Given the description of an element on the screen output the (x, y) to click on. 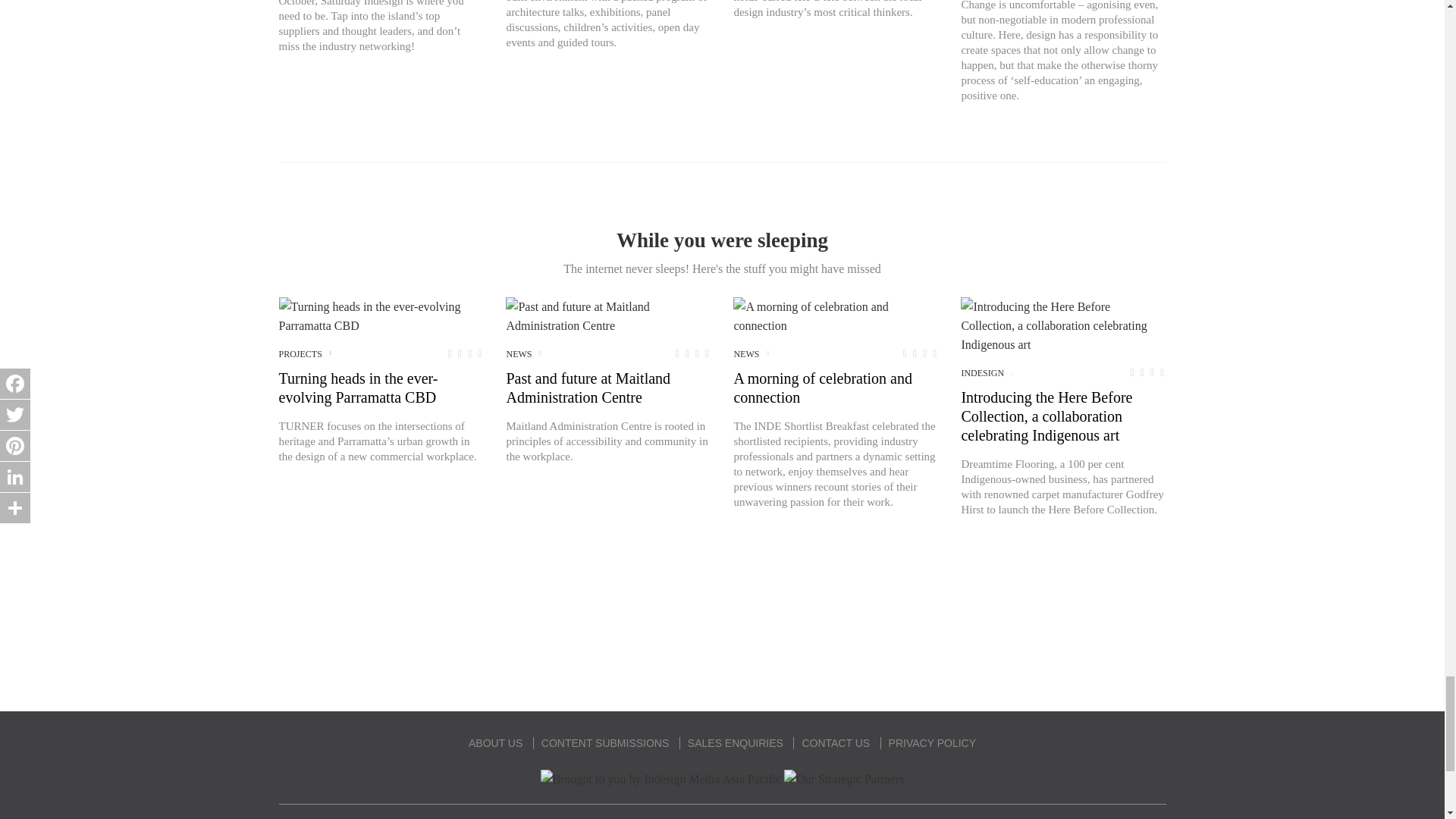
Turning heads in the ever-evolving Parramatta CBD (381, 315)
